Given the description of an element on the screen output the (x, y) to click on. 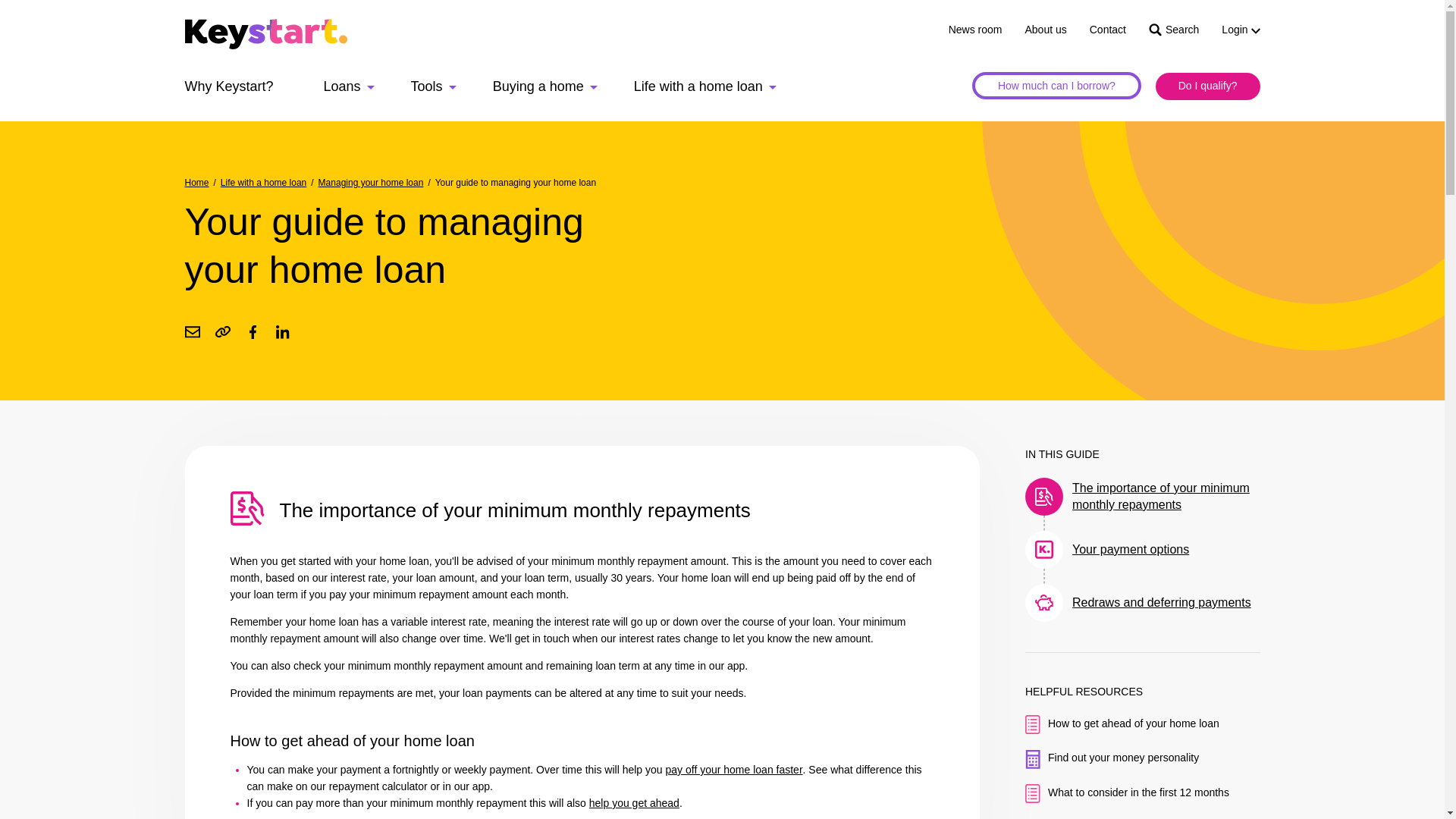
News room (976, 29)
Search (1173, 29)
Loans (348, 85)
Login (1240, 29)
Contact (1107, 29)
About us (1045, 29)
Keystart (265, 33)
Tools (433, 85)
Keystart (265, 36)
Why Keystart? (235, 85)
